Given the description of an element on the screen output the (x, y) to click on. 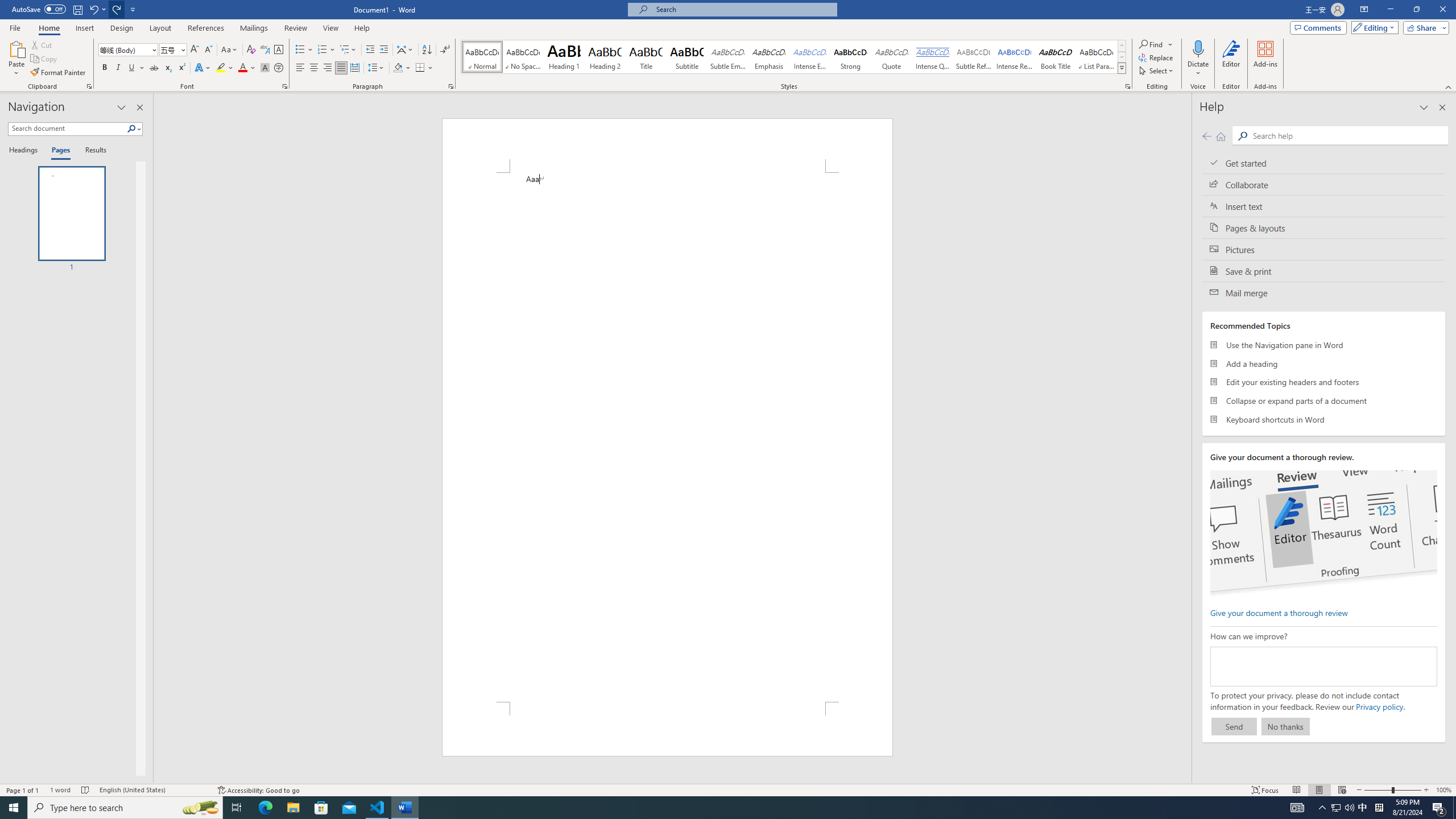
Change Case (229, 49)
Zoom Out (1377, 790)
Home (48, 28)
Decrease Indent (370, 49)
Font Size (169, 49)
Mail merge (1323, 292)
Replace... (1156, 56)
Web Layout (1342, 790)
Row Down (1121, 56)
Increase Indent (383, 49)
Minimize (1390, 9)
Share (1423, 27)
Center (313, 67)
Dictate (1197, 48)
